Given the description of an element on the screen output the (x, y) to click on. 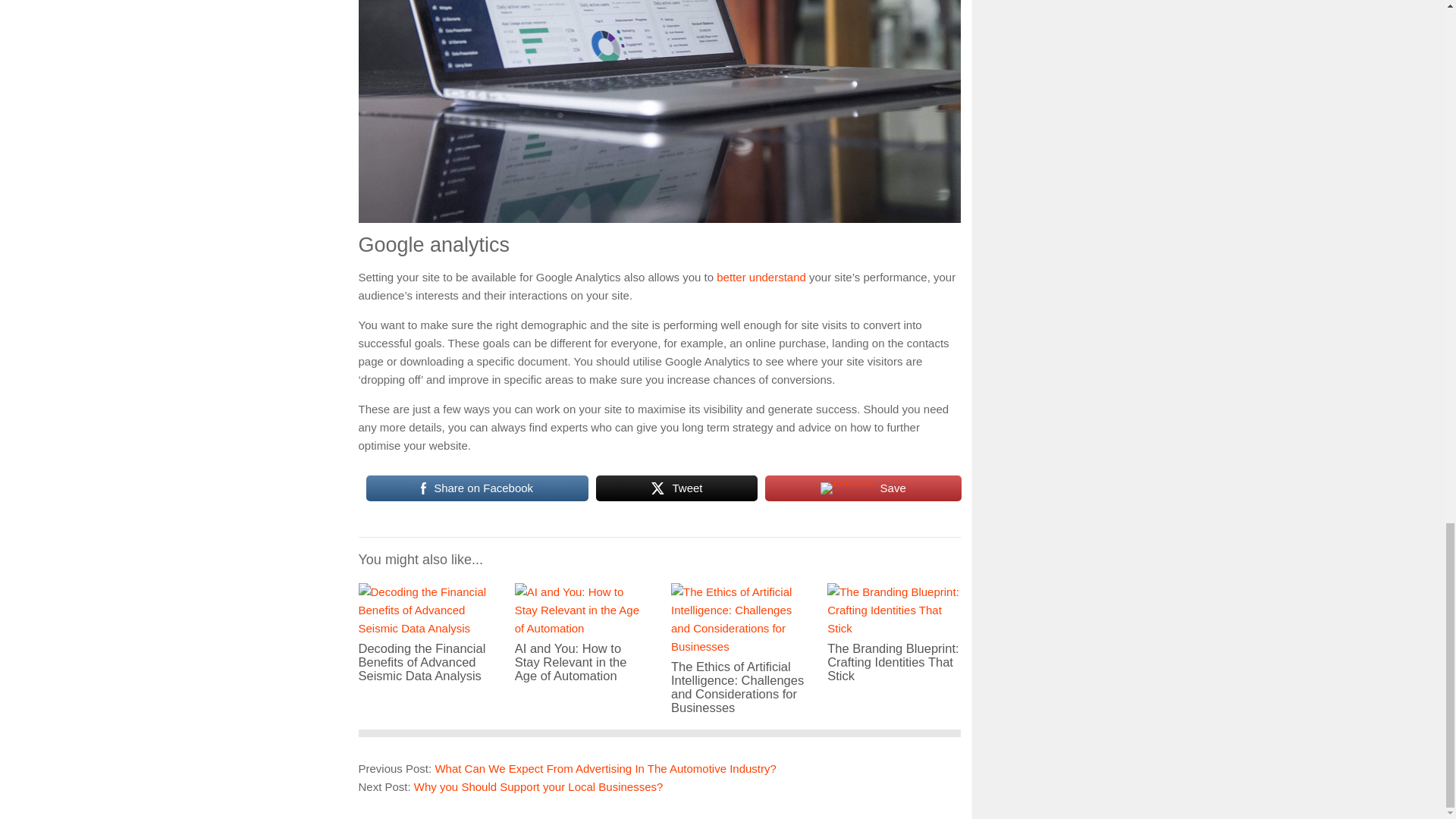
The Branding Blueprint: Crafting Identities That Stick (893, 651)
Tweet (676, 488)
better understand (761, 277)
AI and You: How to Stay Relevant in the Age of Automation (581, 651)
Save (862, 488)
Share on Facebook (476, 488)
